Given the description of an element on the screen output the (x, y) to click on. 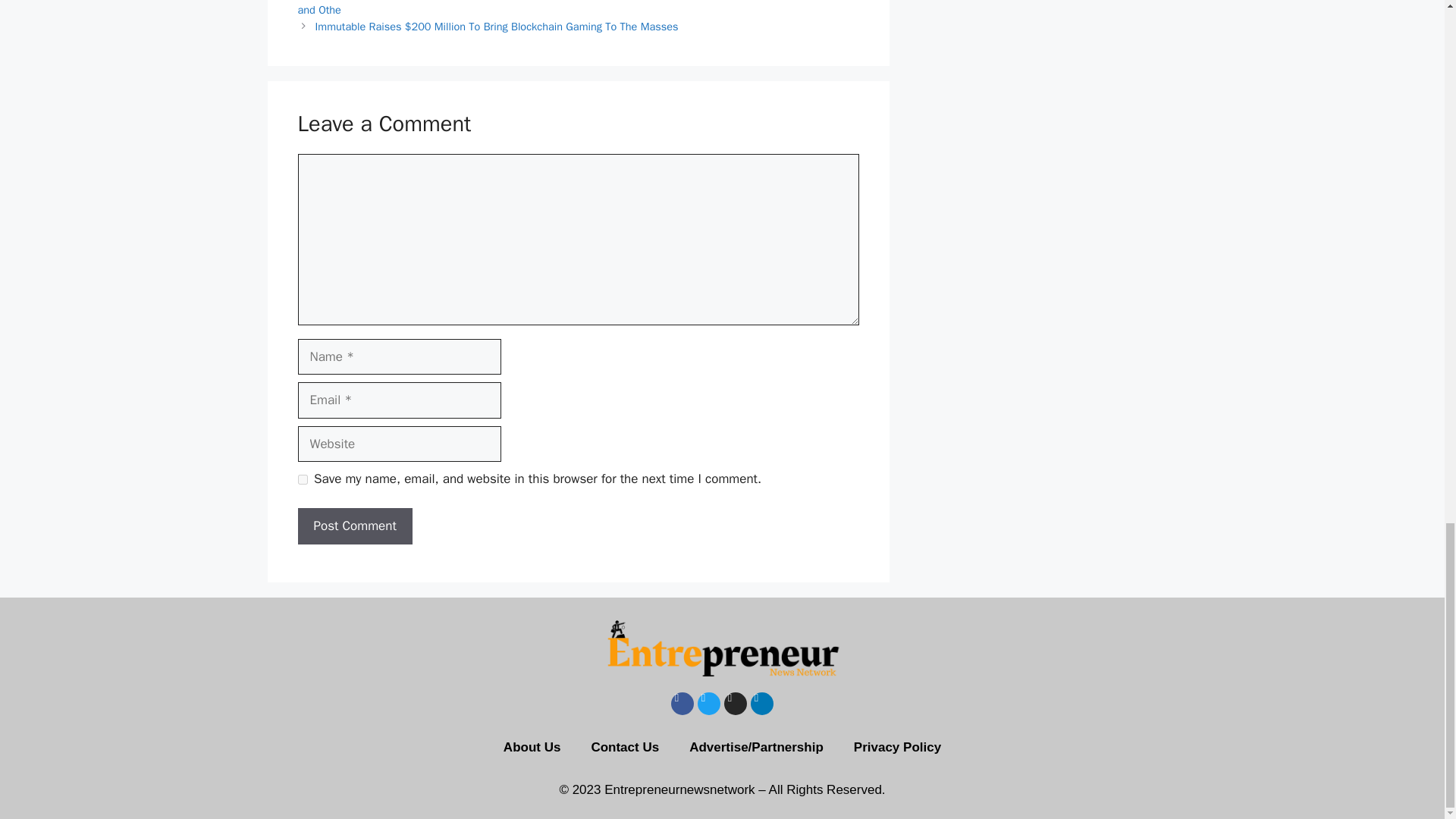
Post Comment (354, 525)
yes (302, 479)
